Given the description of an element on the screen output the (x, y) to click on. 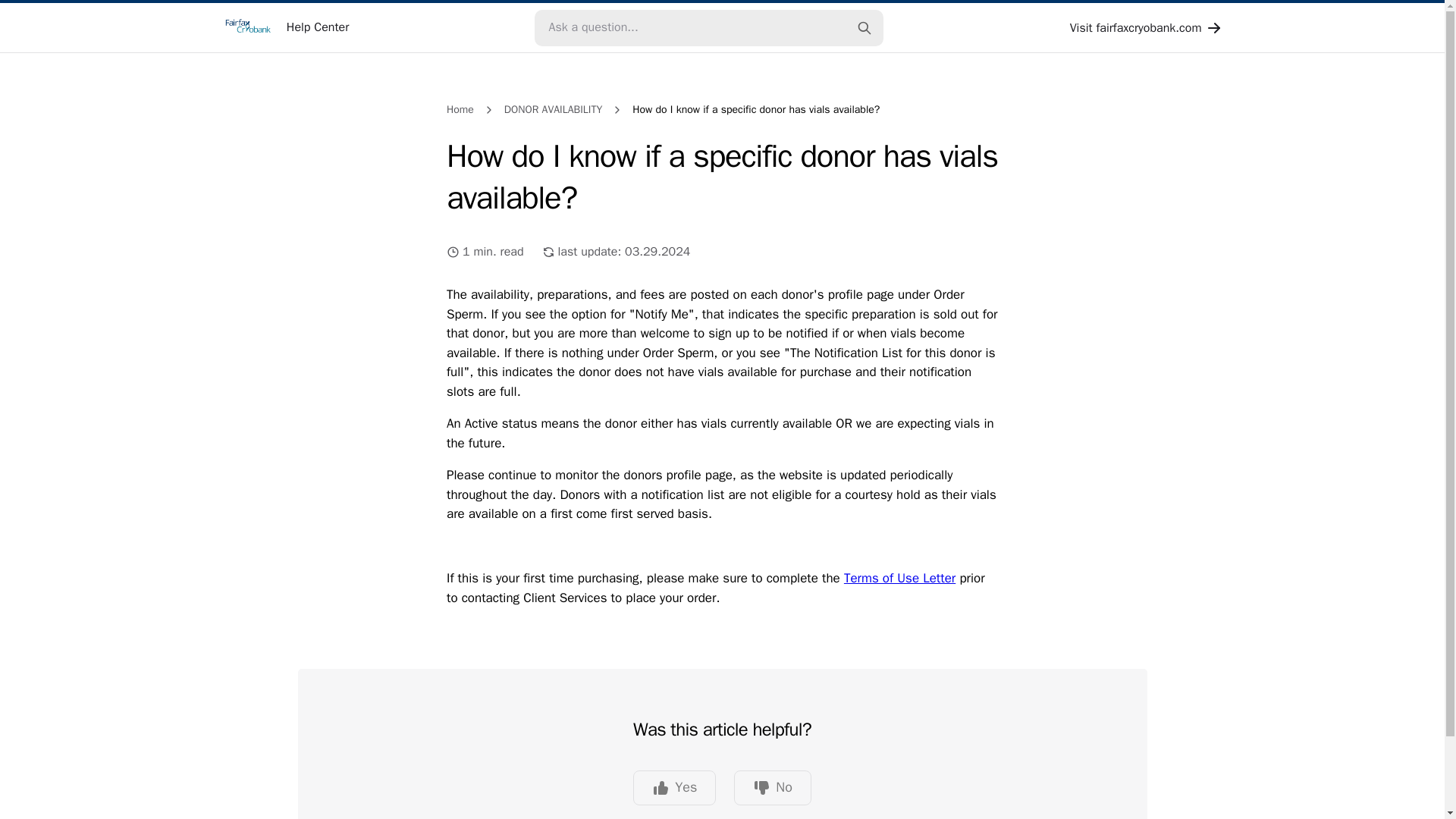
Visit fairfaxcryobank.com (1146, 27)
No (771, 787)
Home (460, 109)
Terms of Use Letter (899, 578)
Help Center (285, 27)
Yes (674, 787)
DONOR AVAILABILITY (552, 109)
